Given the description of an element on the screen output the (x, y) to click on. 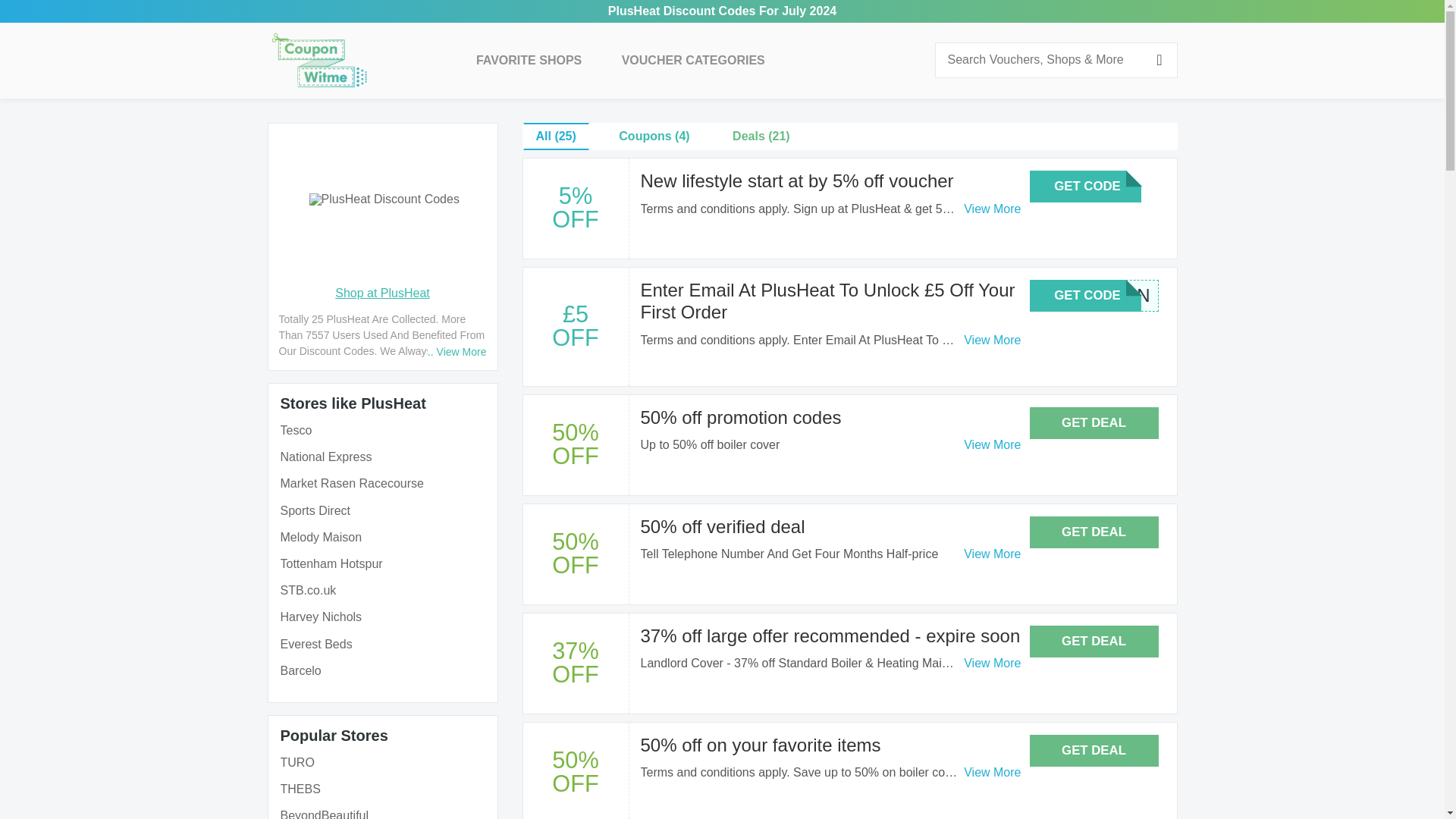
FAVORITE SHOPS (528, 60)
VOUCHER CATEGORIES (693, 60)
